Given the description of an element on the screen output the (x, y) to click on. 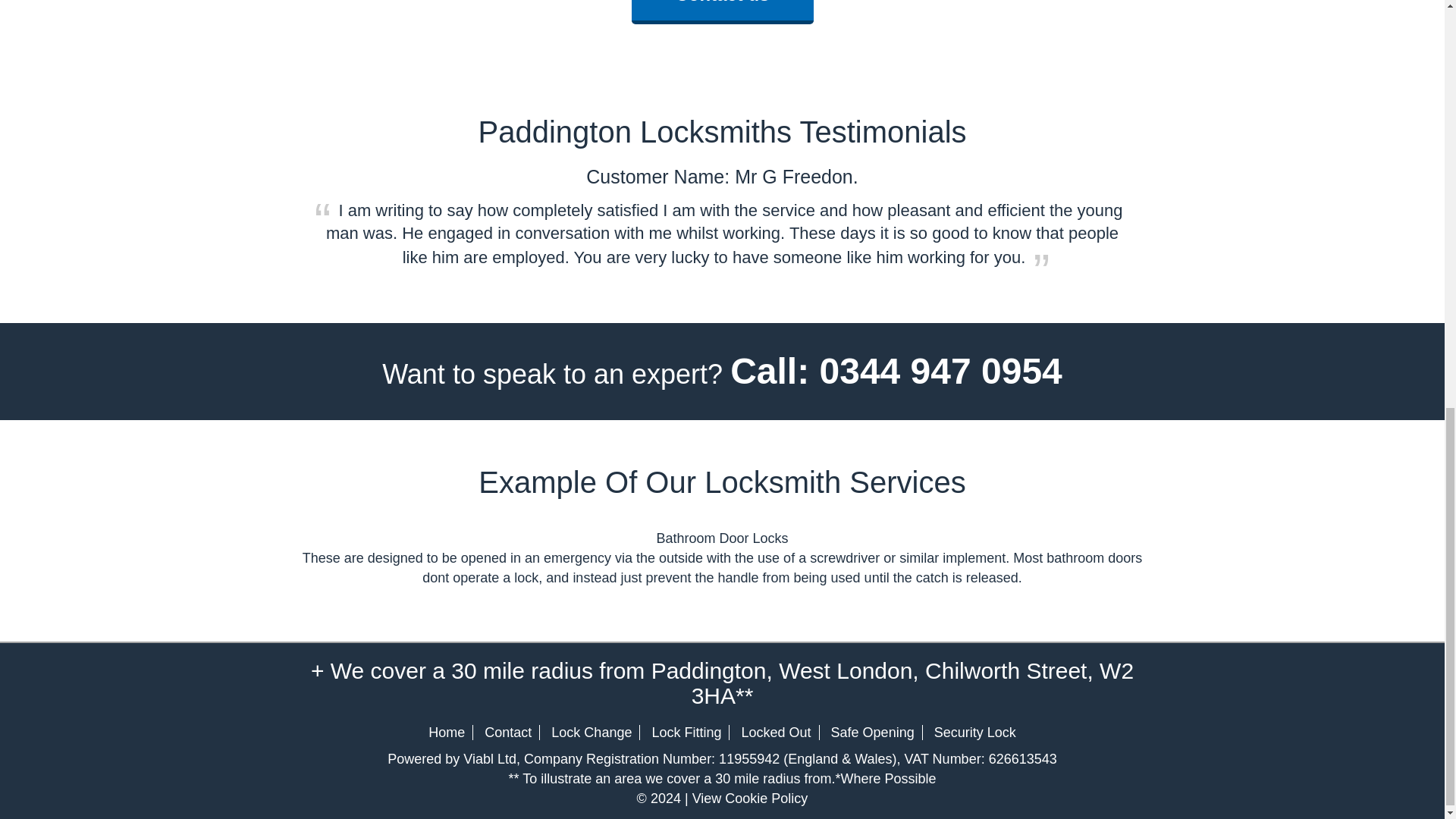
Home (446, 732)
Lock Fitting (685, 732)
Safe Opening (872, 732)
0344 947 0954 (939, 371)
Locked Out (775, 732)
Locked Out (775, 732)
Lock Change (591, 732)
Contact us (721, 2)
Security Lock (975, 732)
View Cookie Policy (750, 798)
Lock Fitting (685, 732)
Homepage (446, 732)
Safe Opening (872, 732)
Contact Us (507, 732)
Lock Change (591, 732)
